Given the description of an element on the screen output the (x, y) to click on. 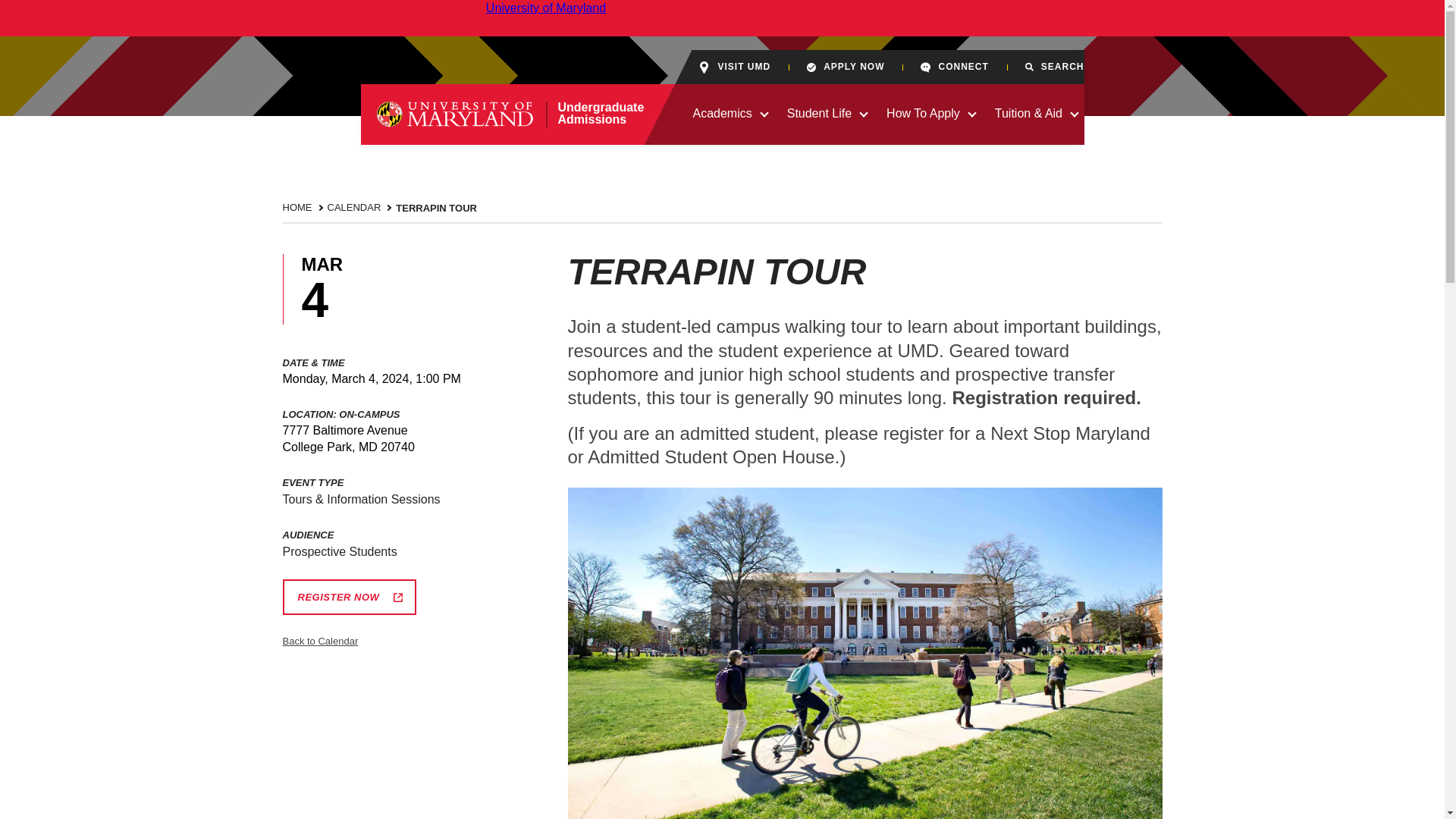
APPLY NOW (844, 66)
How To Apply (922, 113)
CONNECT (954, 66)
SEARCH (1054, 66)
VISIT UMD (734, 66)
Academics (502, 114)
Student Life (722, 113)
